Given the description of an element on the screen output the (x, y) to click on. 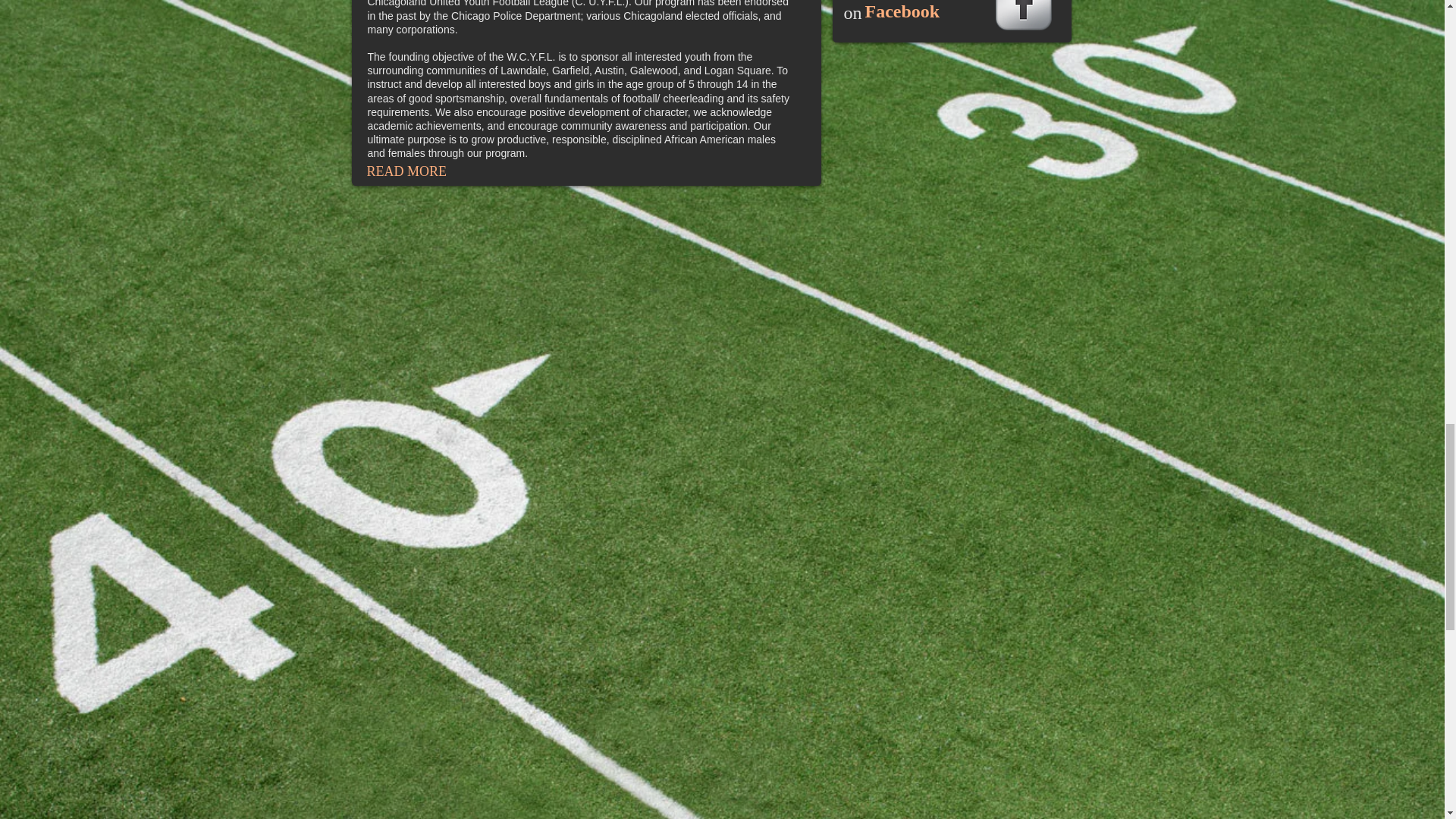
READ MORE (408, 171)
on (852, 16)
Facebook (901, 11)
